Given the description of an element on the screen output the (x, y) to click on. 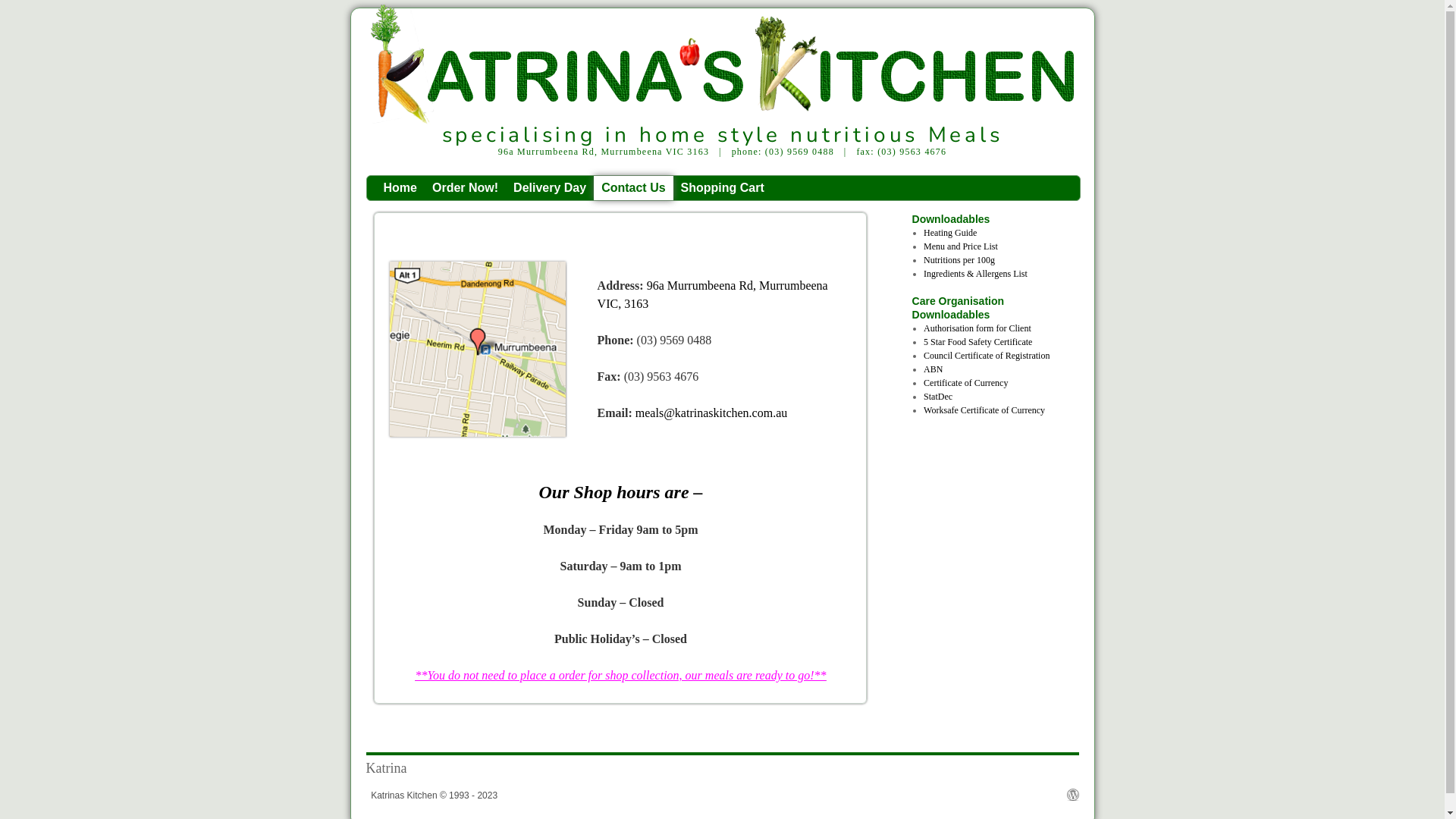
StatDec Element type: text (937, 396)
96 Murrumbeena Rd, Murrumbeena VIC 3163 Element type: hover (477, 348)
Ingredients & Allergens List Element type: text (975, 273)
Home Element type: text (400, 187)
Authorisation form for Client Element type: text (977, 328)
Delivery Day Element type: text (549, 187)
5 Star Food Safety Certificate Element type: text (977, 341)
meals@katrinaskitchen.com.au Element type: text (711, 412)
Nutritions per 100g Element type: text (958, 259)
Certificate of Currency Element type: text (965, 382)
Contact Us Element type: text (632, 187)
Powered by WordPress Element type: hover (1072, 794)
Menu and Price List Element type: text (960, 246)
Worksafe Certificate of Currency Element type: text (983, 409)
Council Certificate of Registration Element type: text (986, 355)
Care Organisation Downloadables Element type: text (987, 307)
96a Murrumbeena Rd, Murrumbeena VIC, 3163 Element type: text (712, 294)
Shopping Cart Element type: text (722, 187)
Heating Guide Element type: text (949, 232)
Order Now! Element type: text (464, 187)
ABN Element type: text (932, 369)
